Given the description of an element on the screen output the (x, y) to click on. 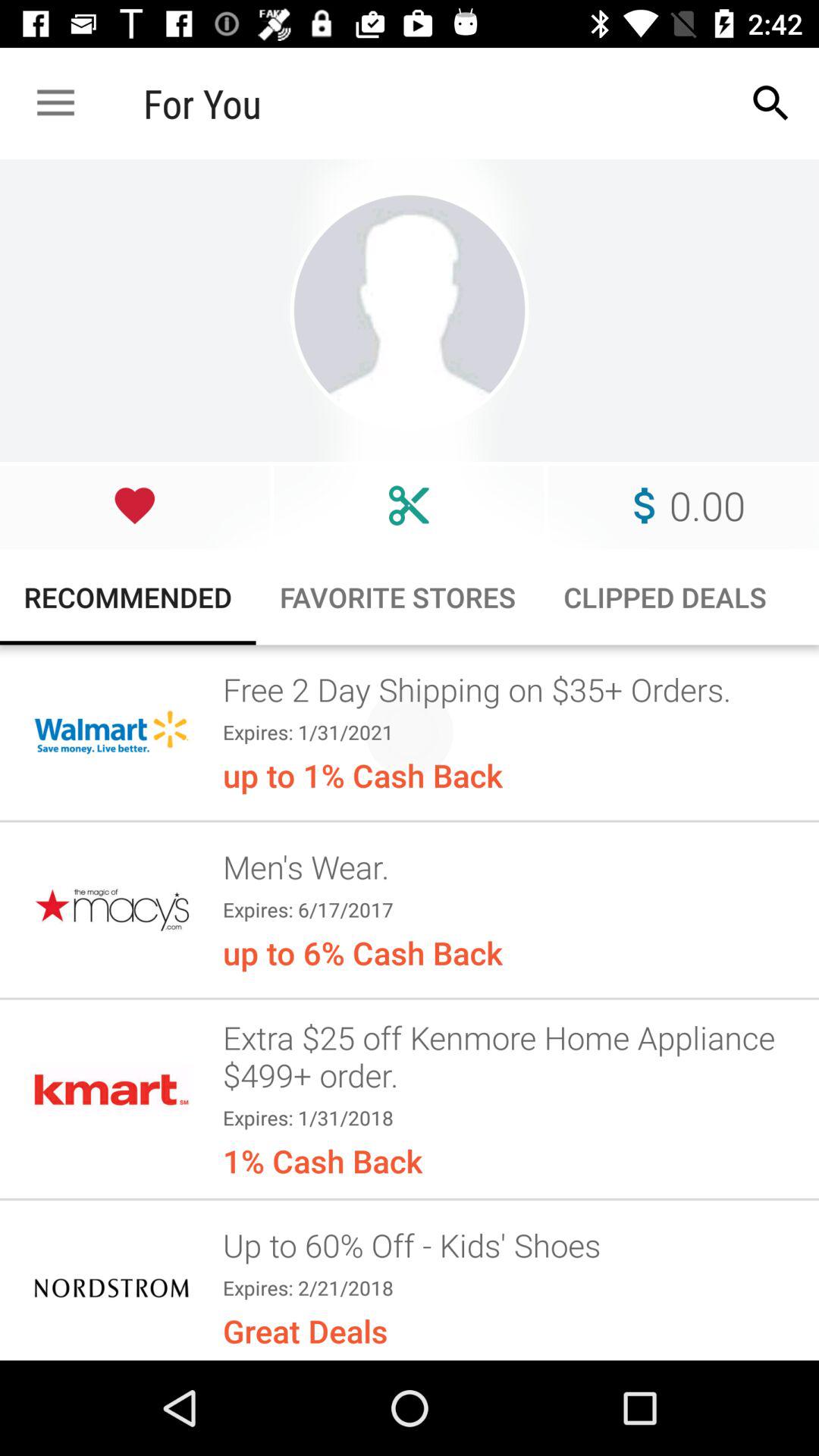
view user account (409, 310)
